Given the description of an element on the screen output the (x, y) to click on. 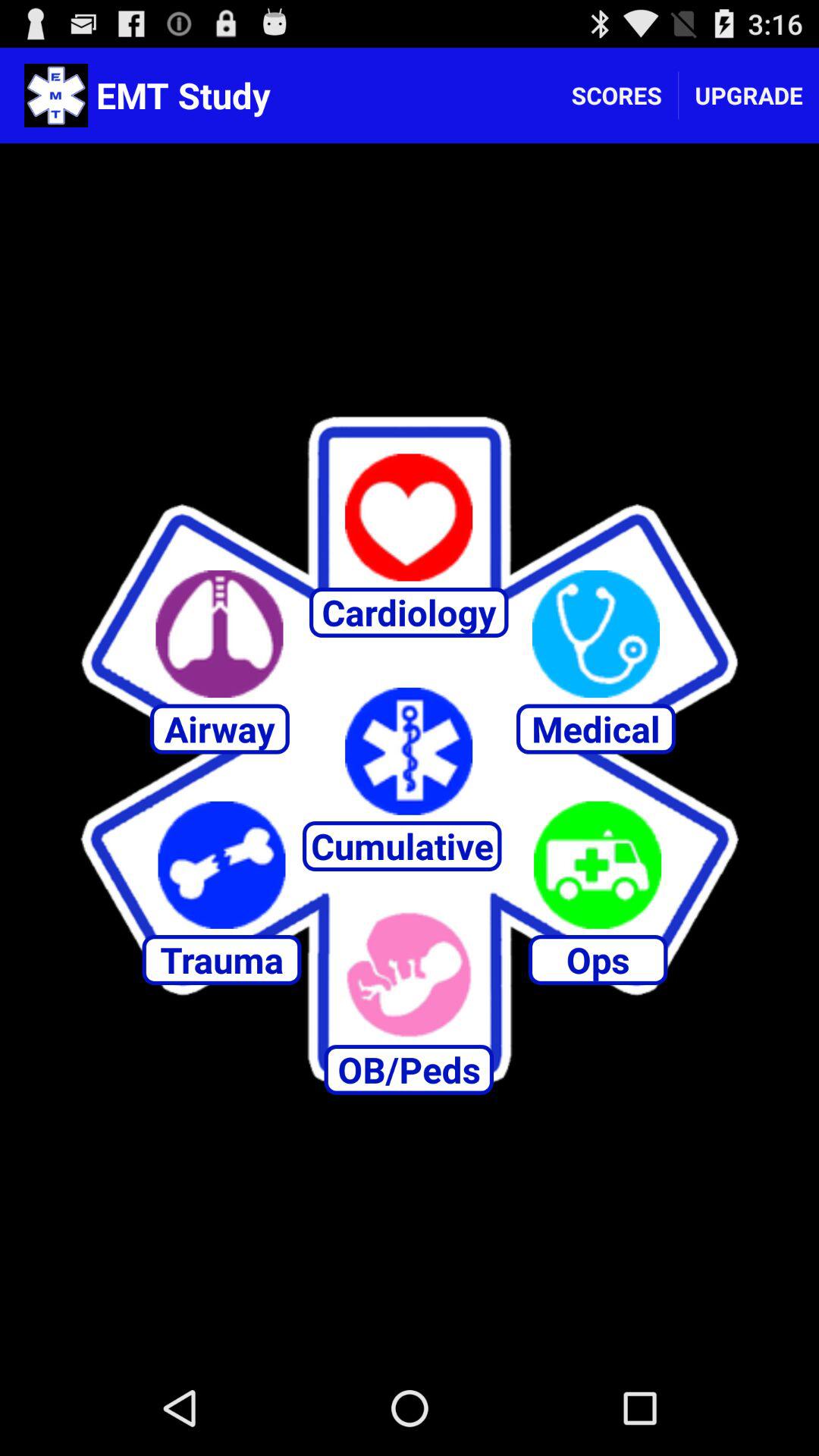
go to airway section (219, 633)
